Given the description of an element on the screen output the (x, y) to click on. 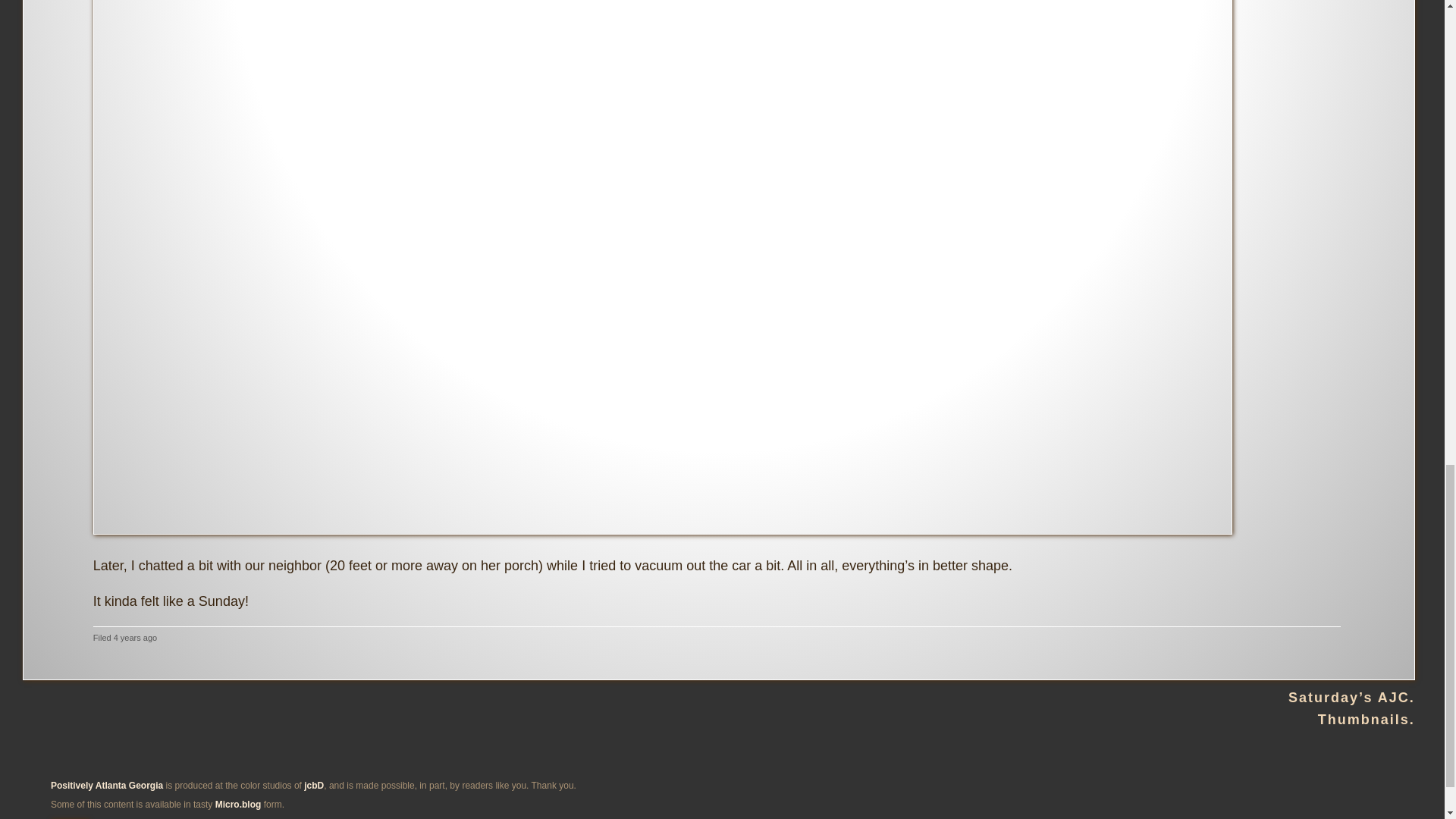
Micro.blog (238, 804)
jcbD (313, 785)
